Given the description of an element on the screen output the (x, y) to click on. 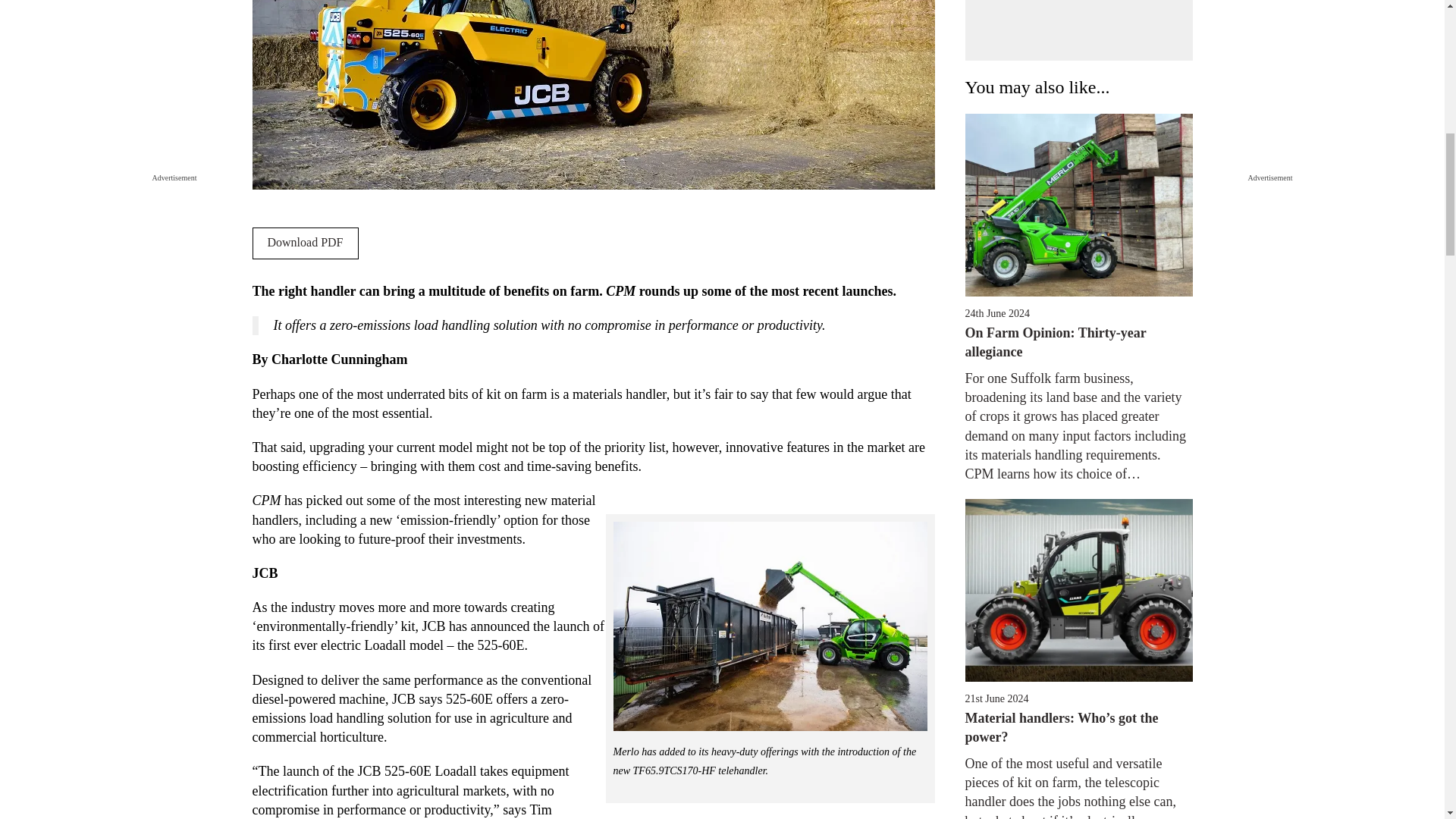
advertisement (1077, 30)
Download PDF (304, 243)
